Given the description of an element on the screen output the (x, y) to click on. 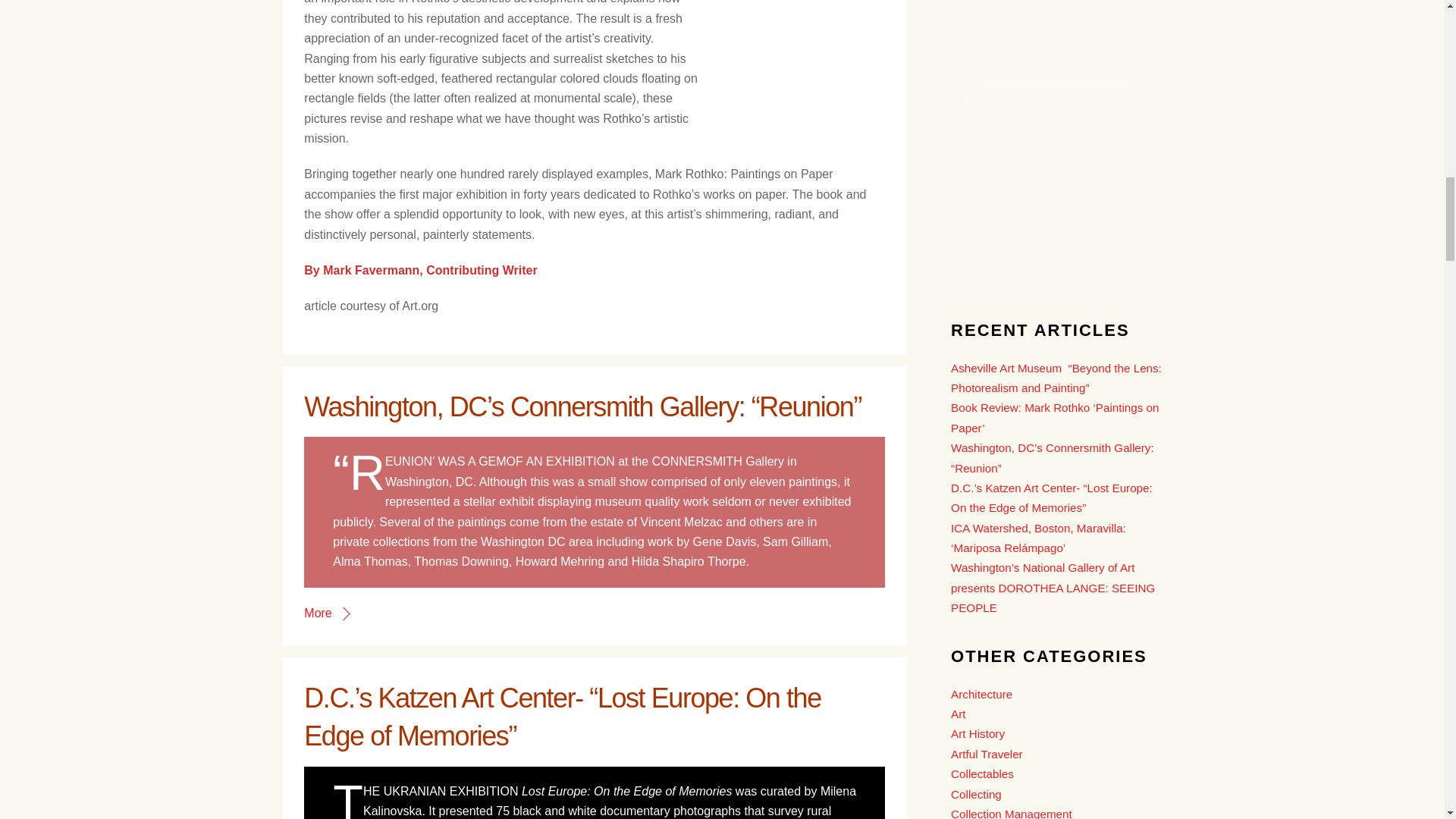
Home (1055, 174)
More (325, 612)
